Given the description of an element on the screen output the (x, y) to click on. 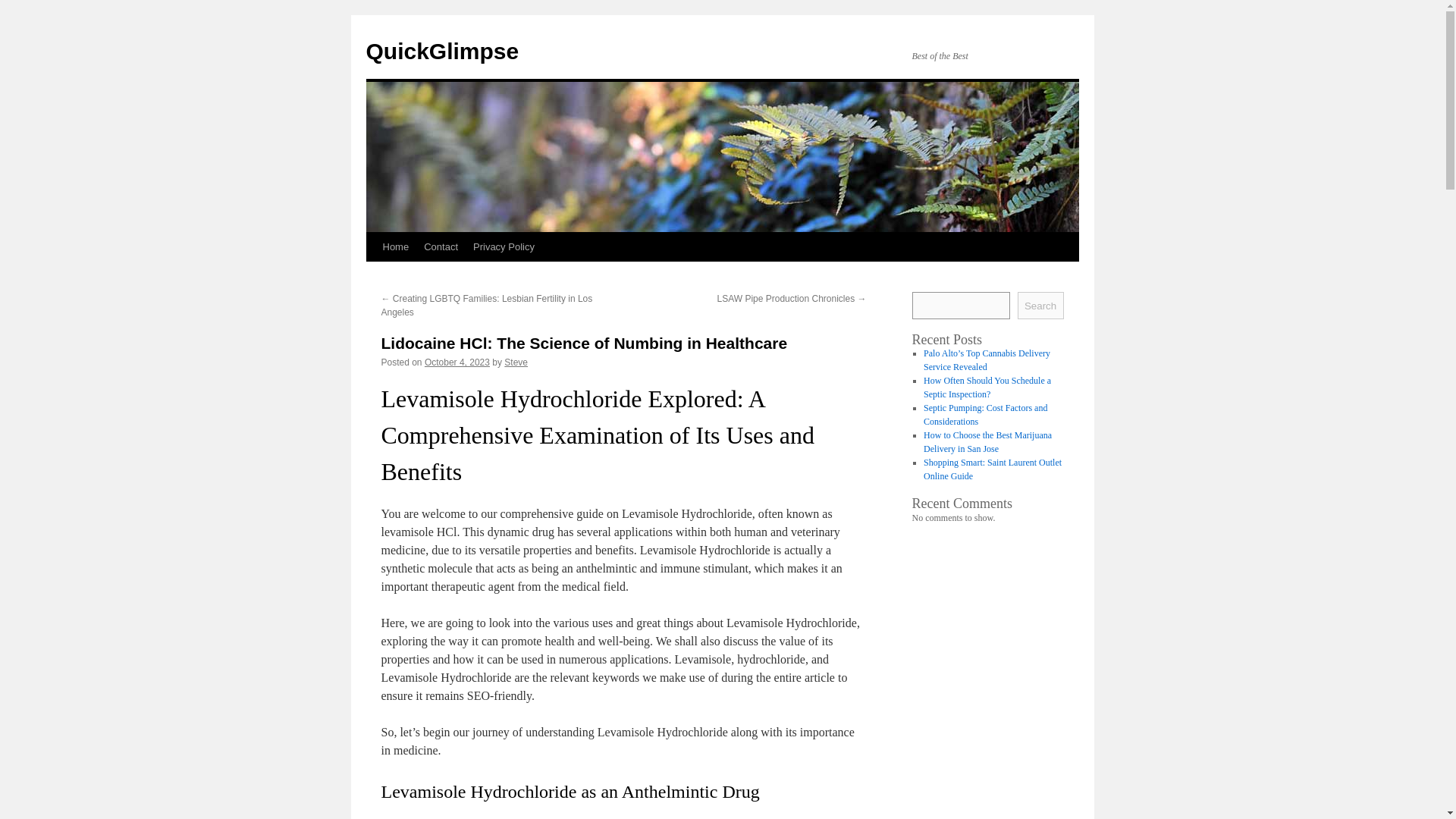
3:45 am (457, 362)
How to Choose the Best Marijuana Delivery in San Jose (987, 441)
October 4, 2023 (457, 362)
How Often Should You Schedule a Septic Inspection? (987, 387)
Privacy Policy (503, 246)
View all posts by Steve (515, 362)
Search (1040, 305)
Contact (440, 246)
Home (395, 246)
QuickGlimpse (441, 50)
